Given the description of an element on the screen output the (x, y) to click on. 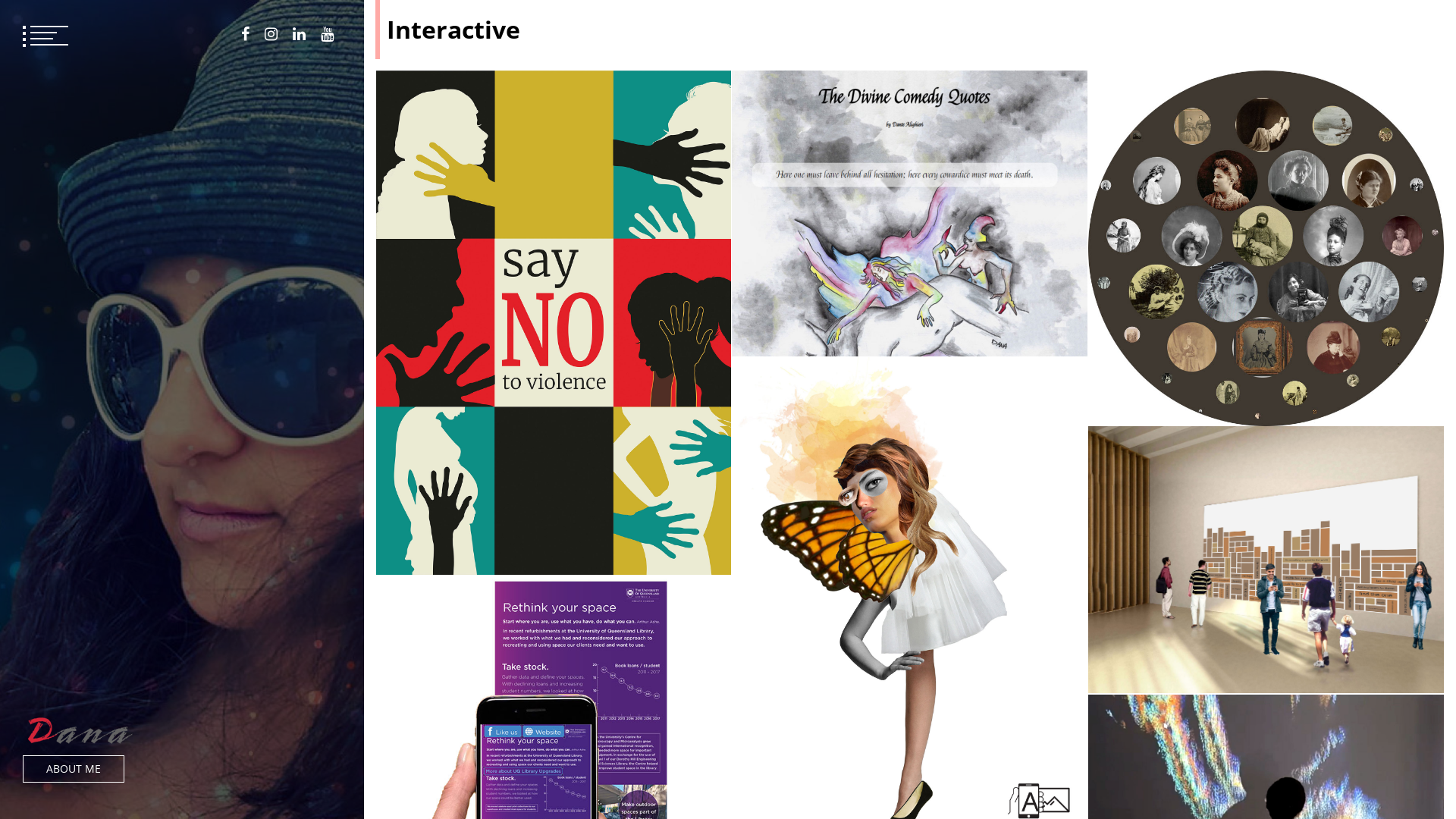
Facebook Element type: text (245, 33)
Instagram Element type: text (271, 33)
Interactive Element type: text (770, 502)
YouTube Element type: text (327, 33)
LinkedIn Element type: text (299, 33)
ABOUT ME Element type: text (73, 768)
Augmented / Virtual Reality Element type: text (1173, 787)
Interactive Element type: text (1125, 284)
